Given the description of an element on the screen output the (x, y) to click on. 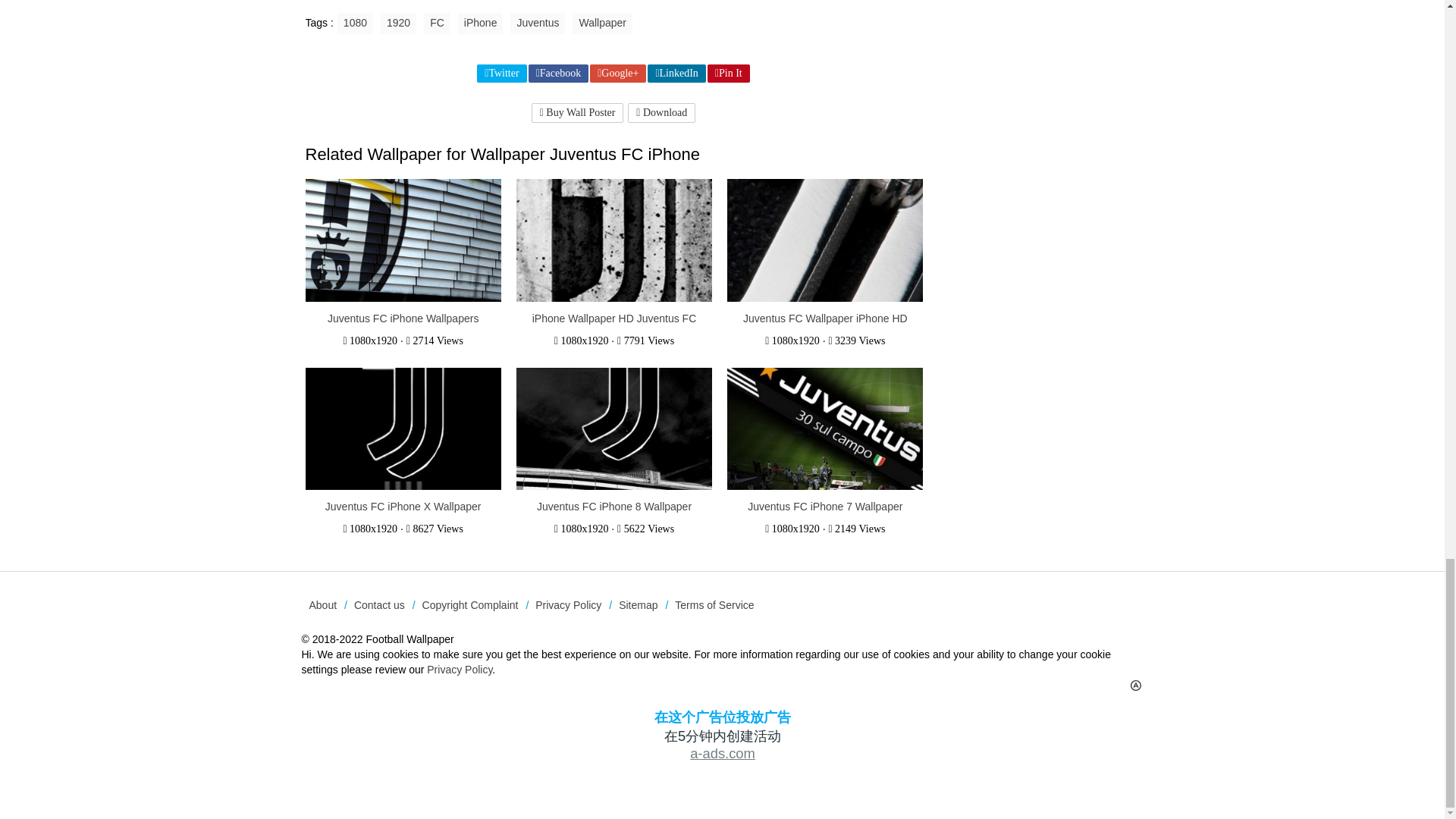
1920 (398, 23)
Juventus FC iPhone Wallpapers (403, 318)
iPhone Wallpaper HD Juventus FC (613, 241)
Juventus FC iPhone X Wallpaper (402, 506)
Wallpaper (601, 23)
Juventus FC iPhone 7 Wallpaper (825, 506)
FC (436, 23)
iPhone Wallpaper HD Juventus FC (614, 318)
Juventus (537, 23)
iPhone (480, 23)
iPhone Wallpaper HD Juventus FC (614, 318)
Twitter (501, 73)
Juventus FC iPhone 8 Wallpaper (614, 506)
1080 (354, 23)
Buy Wall Poster (577, 112)
